Given the description of an element on the screen output the (x, y) to click on. 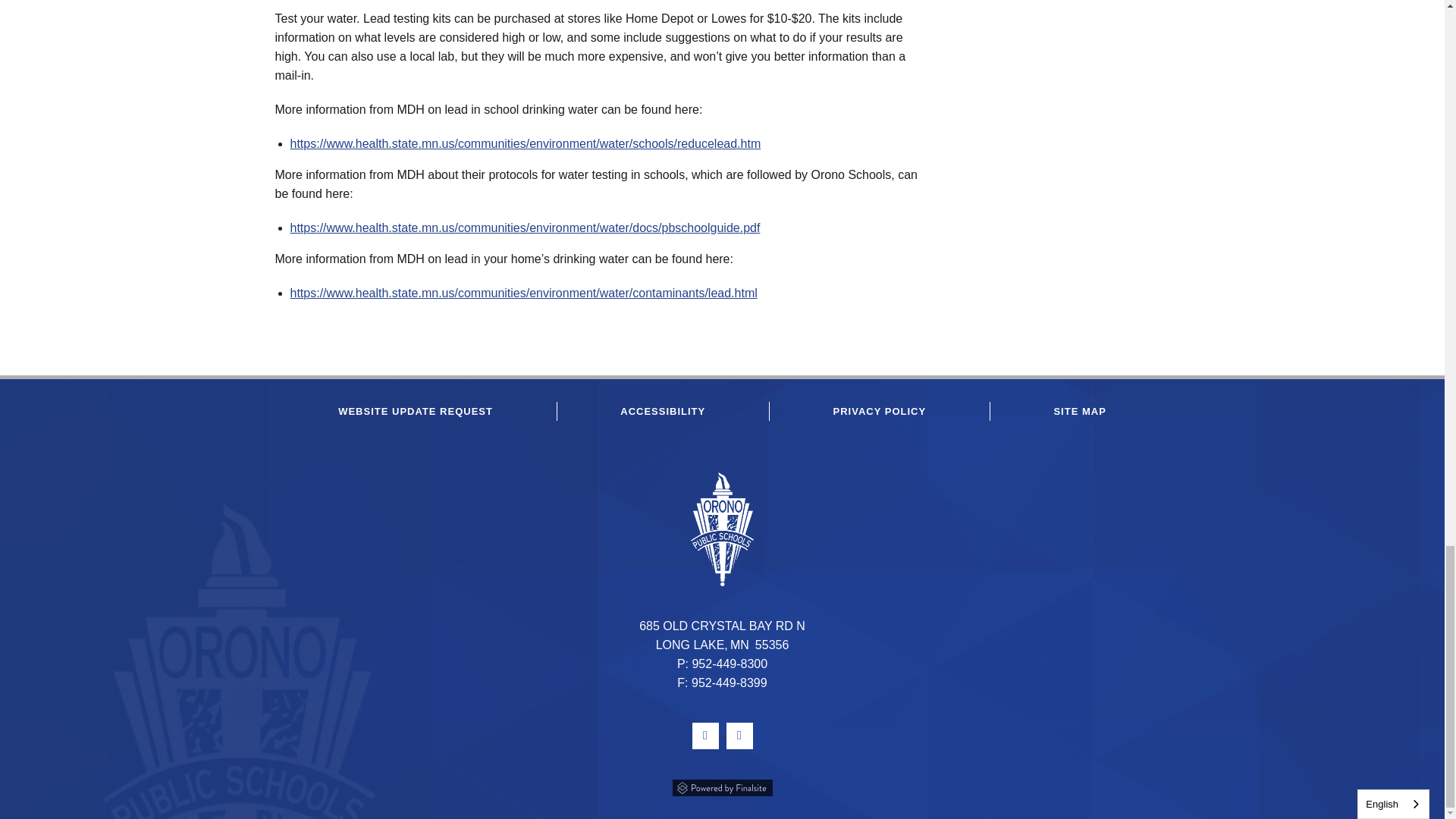
Powered by Finalsite opens in a new window (722, 785)
